Given the description of an element on the screen output the (x, y) to click on. 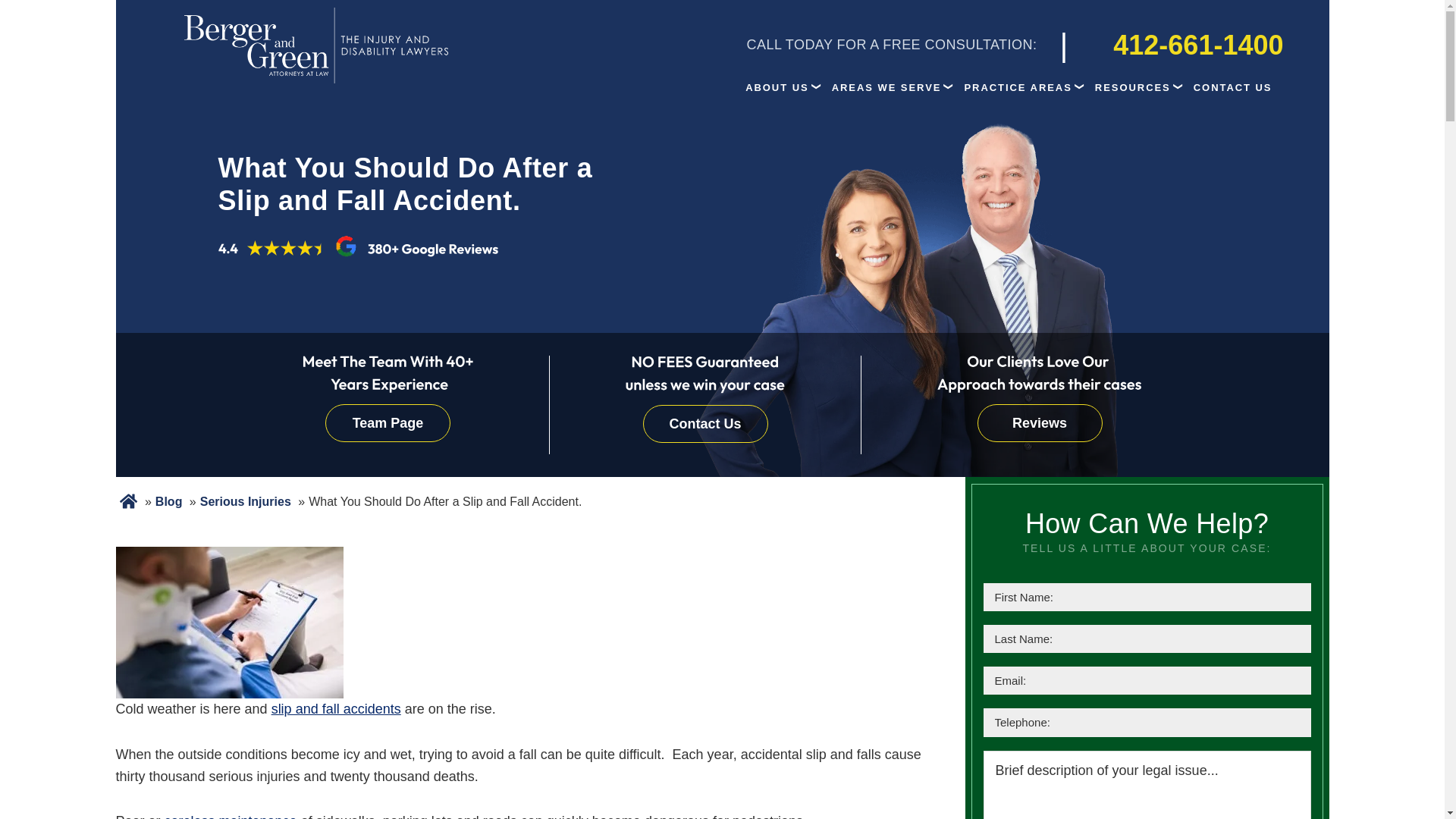
AREAS WE SERVE (887, 87)
ABOUT US (777, 87)
PRACTICE AREAS (1017, 87)
RESOURCES (1132, 87)
412-661-1400 (1182, 44)
